Given the description of an element on the screen output the (x, y) to click on. 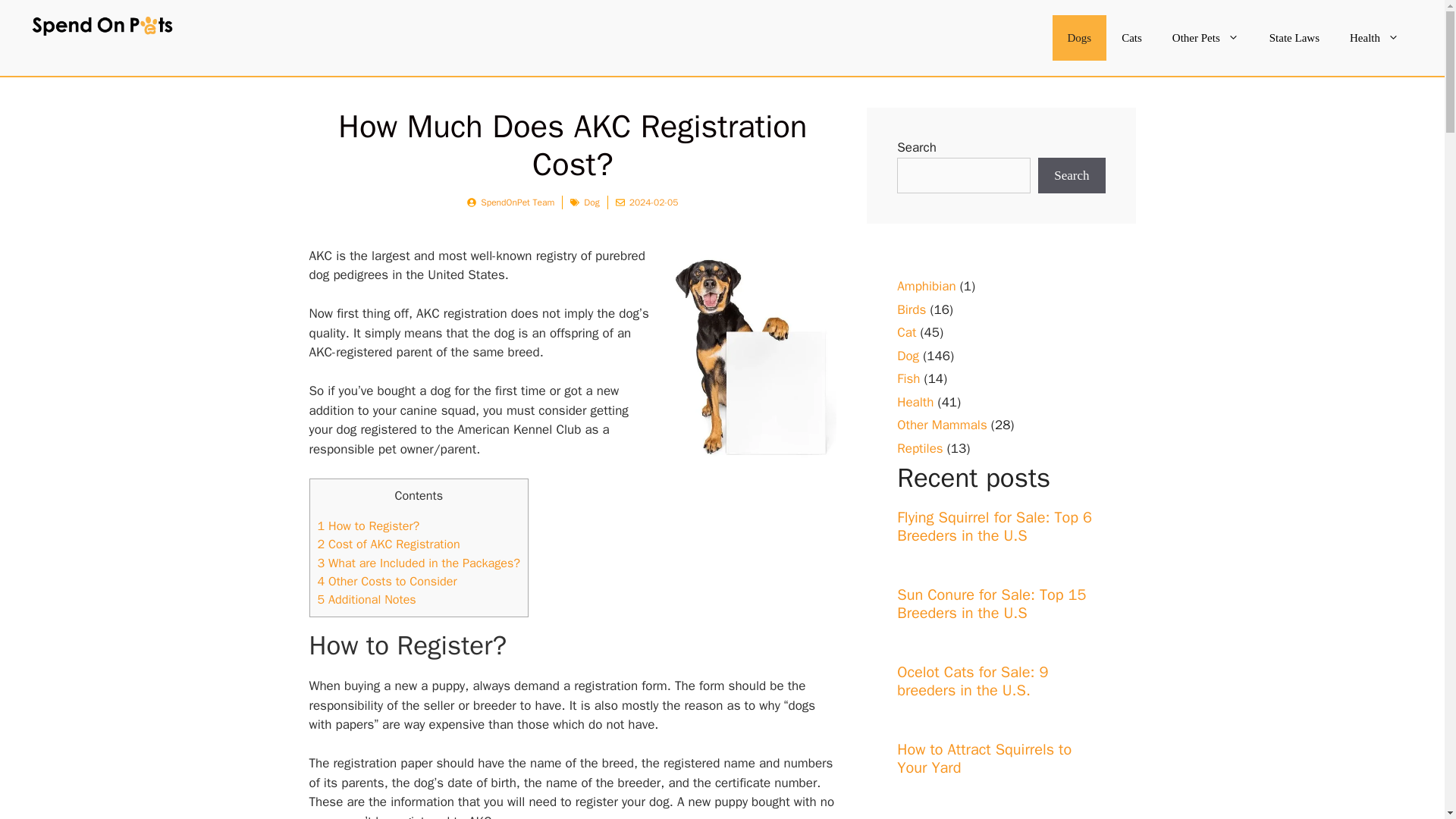
Health (1374, 37)
Other Pets (1205, 37)
1 How to Register? (368, 525)
SpendOnPet Team (517, 202)
Dogs (1079, 37)
2 Cost of AKC Registration (388, 544)
Cats (1131, 37)
How Much Does AKC Registration Cost? 1 (749, 359)
Dog (590, 202)
State Laws (1294, 37)
2024-02-05 (653, 202)
